Given the description of an element on the screen output the (x, y) to click on. 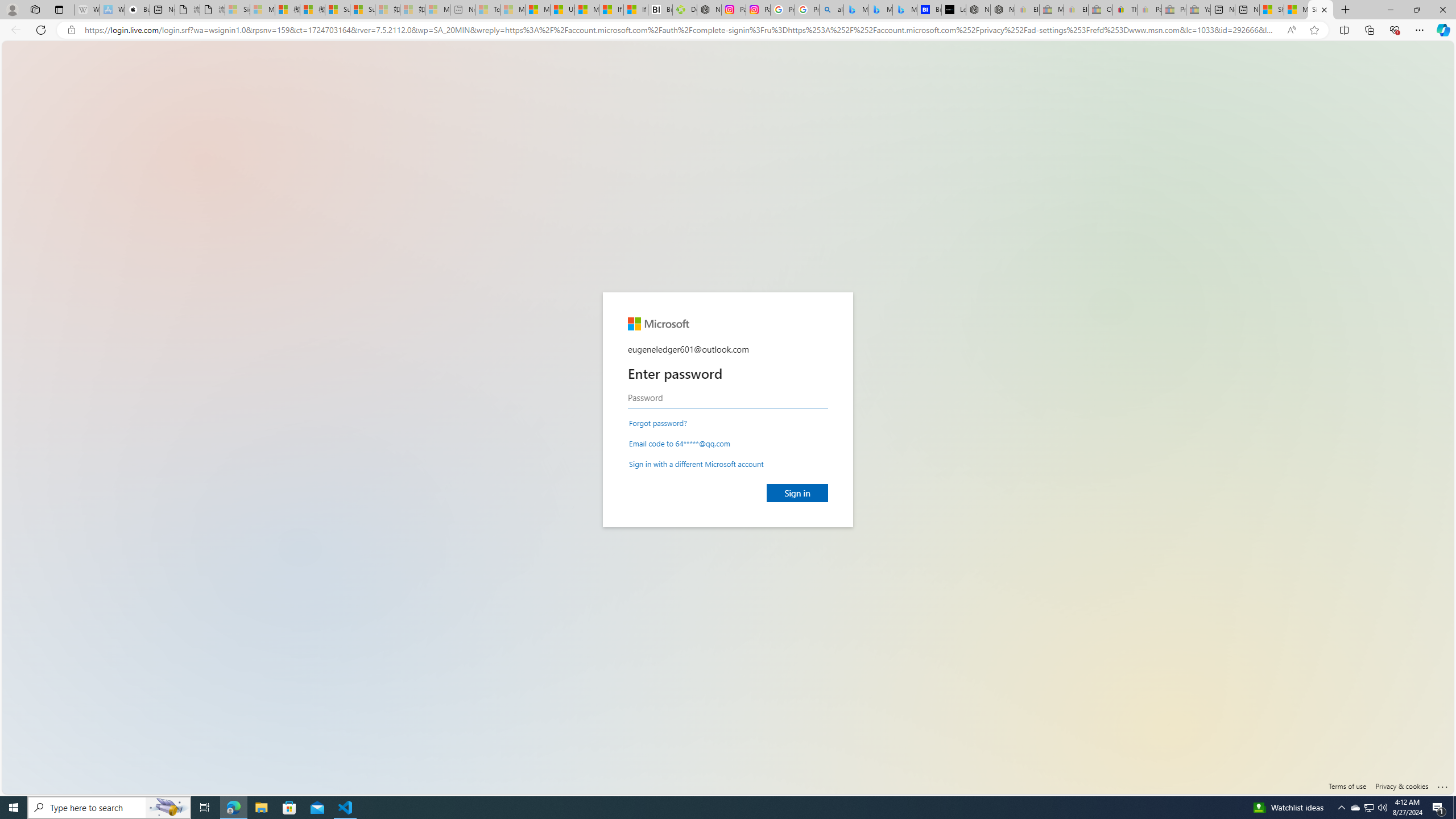
alabama high school quarterback dies - Search (830, 9)
